Given the description of an element on the screen output the (x, y) to click on. 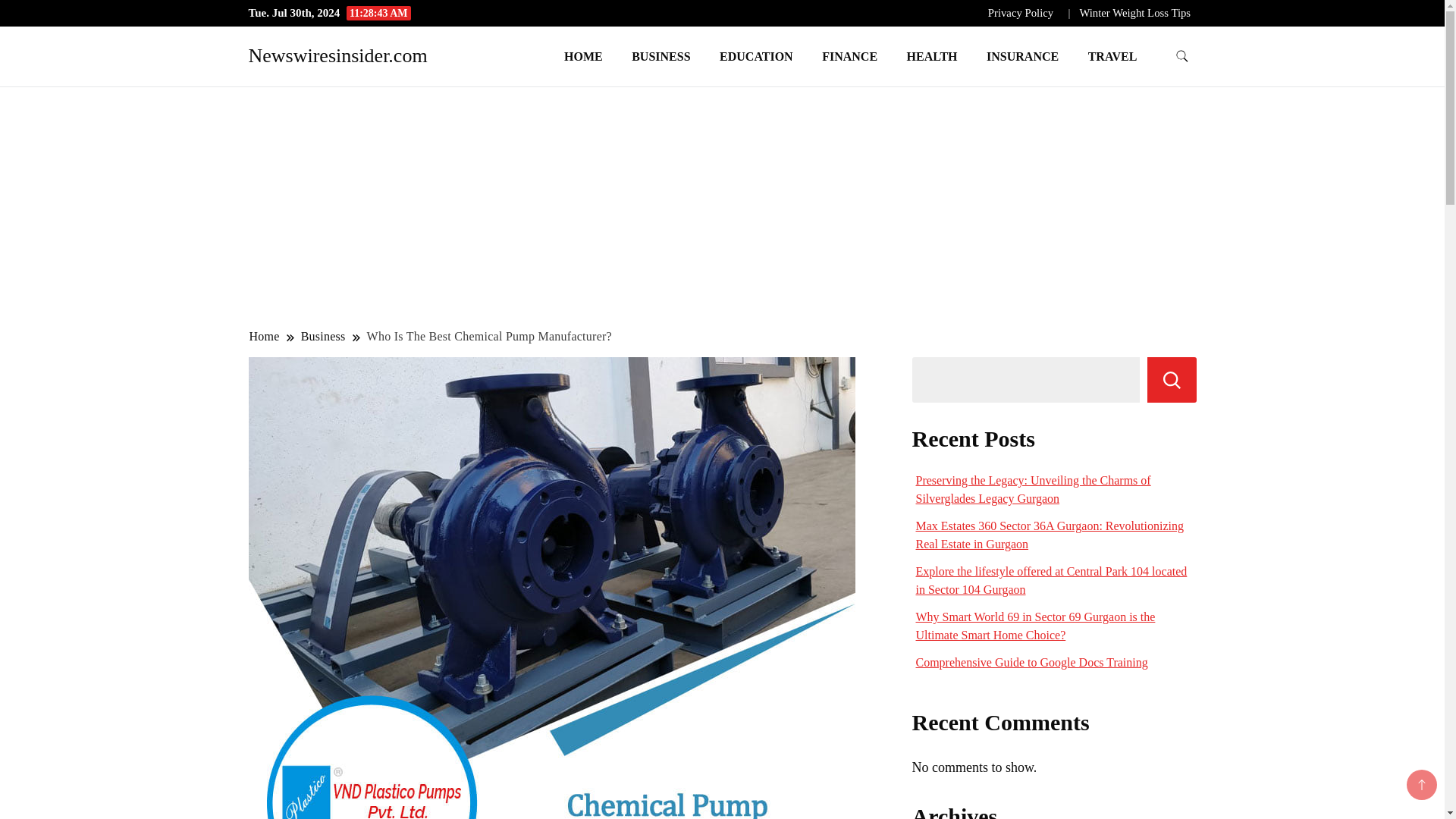
Home (264, 336)
HOME (583, 56)
Winter Weight Loss Tips (1134, 12)
Who Is The Best Chemical Pump Manufacturer? (489, 336)
Business (322, 336)
HEALTH (932, 56)
TRAVEL (1112, 56)
BUSINESS (660, 56)
INSURANCE (1022, 56)
FINANCE (849, 56)
Privacy Policy (1020, 12)
EDUCATION (756, 56)
Newswiresinsider.com (338, 55)
